Given the description of an element on the screen output the (x, y) to click on. 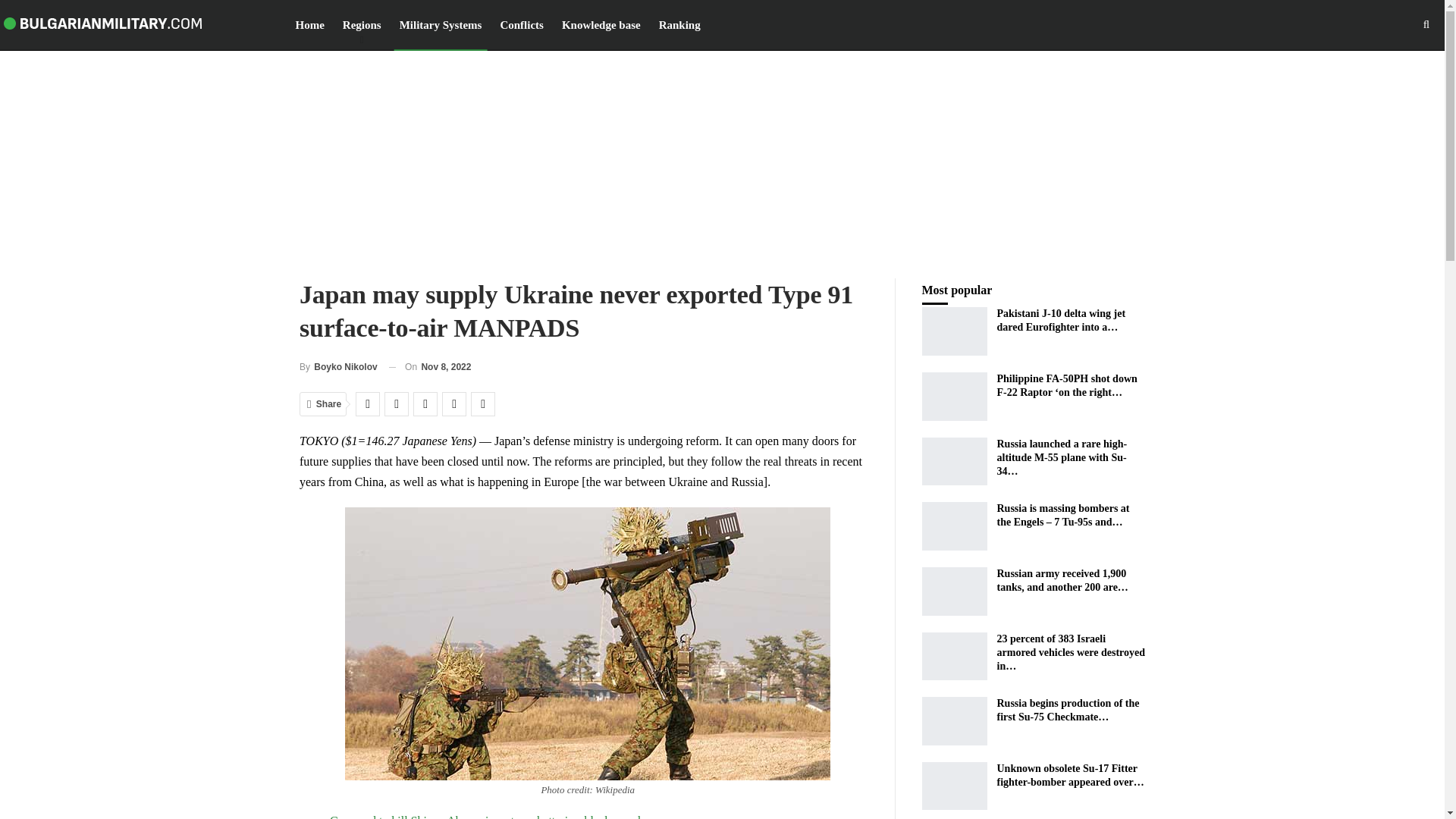
Browse Author Articles (338, 367)
Ranking (679, 24)
By Boyko Nikolov (338, 367)
Regions (362, 24)
Conflicts (521, 24)
Knowledge base (601, 24)
Military Systems (440, 24)
